Given the description of an element on the screen output the (x, y) to click on. 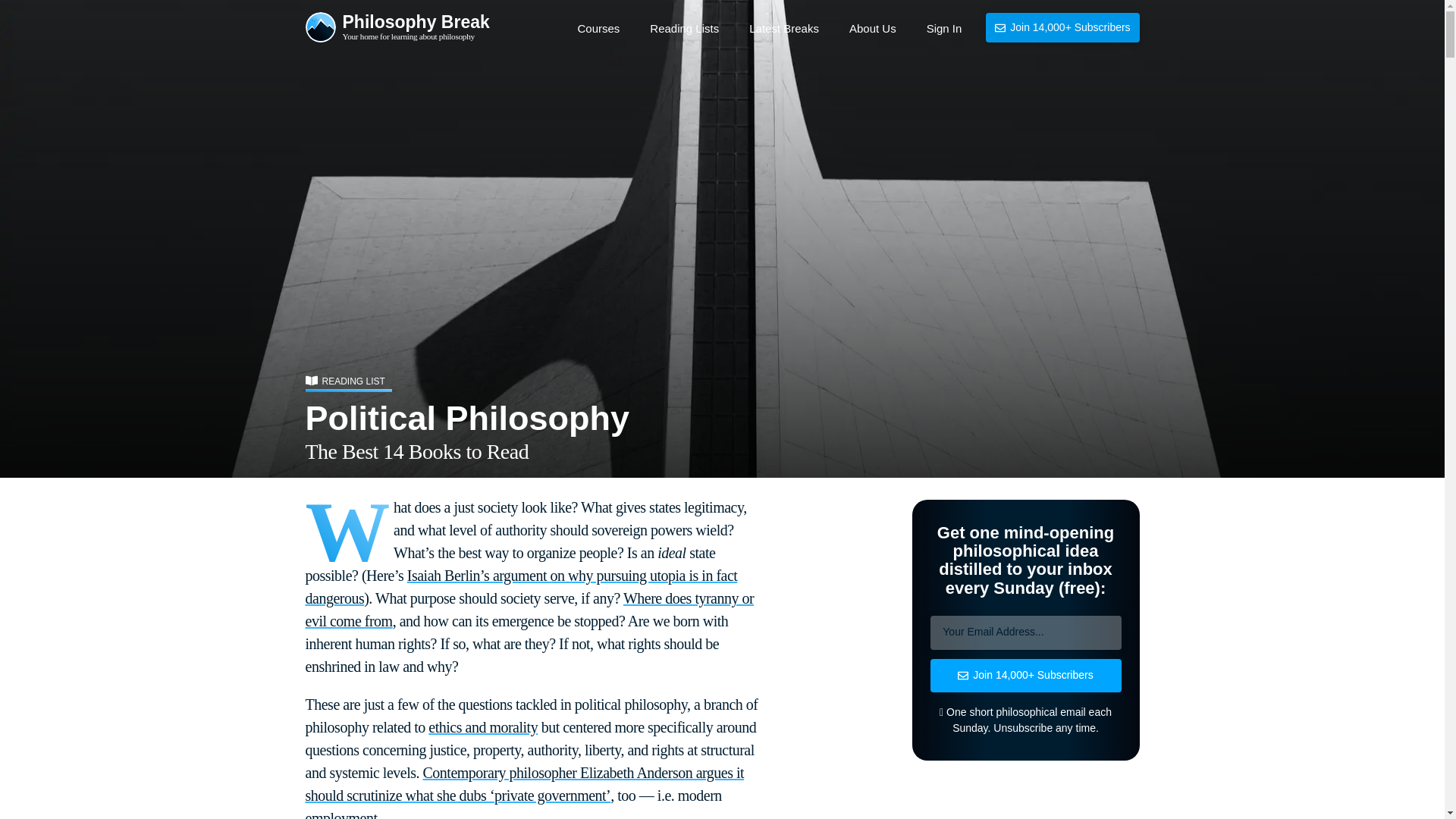
Reading Lists (684, 29)
Courses (396, 28)
ethics and morality (598, 29)
Latest Breaks (482, 727)
About Us (783, 29)
Where does tyranny or evil come from (872, 29)
Sign In (529, 609)
